Given the description of an element on the screen output the (x, y) to click on. 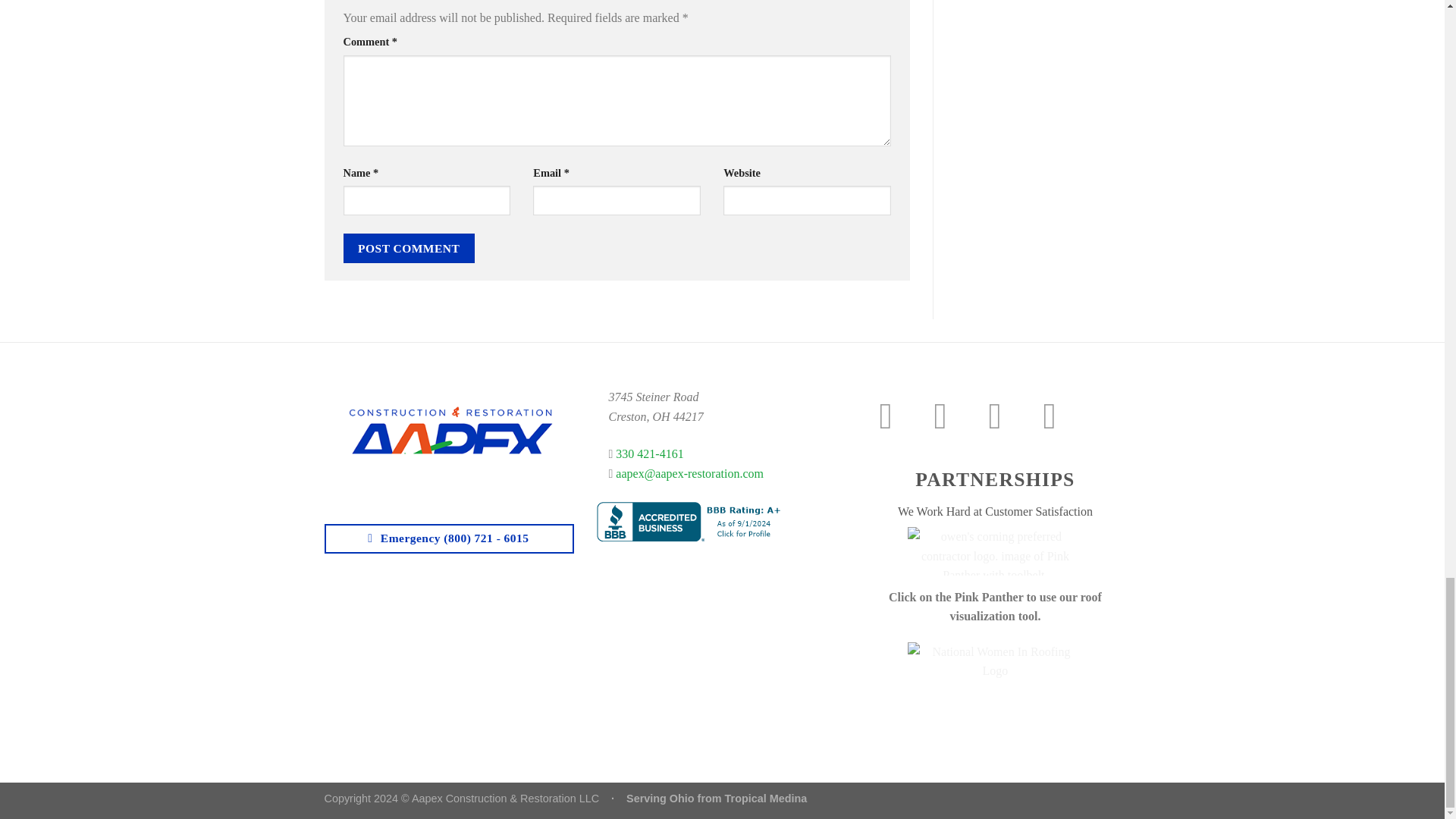
Post Comment (408, 247)
Follow on LinkedIn (1060, 415)
Send us an email (1006, 415)
Follow on Instagram (951, 415)
Follow on Facebook (897, 415)
